Given the description of an element on the screen output the (x, y) to click on. 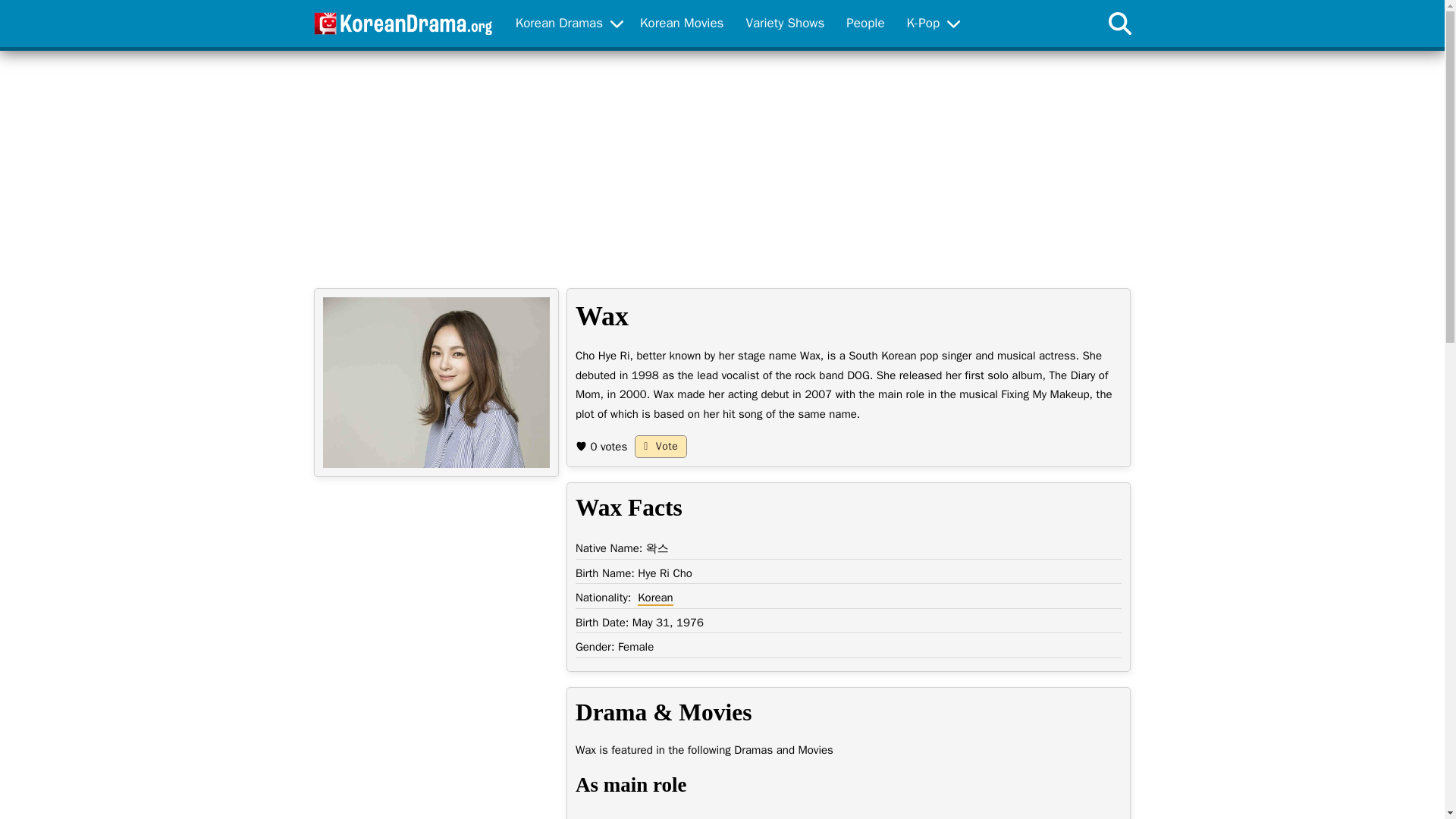
K-Pop (922, 24)
Korean Dramas (559, 24)
Korean Movies (681, 24)
Variety Shows (784, 24)
People (865, 24)
